Given the description of an element on the screen output the (x, y) to click on. 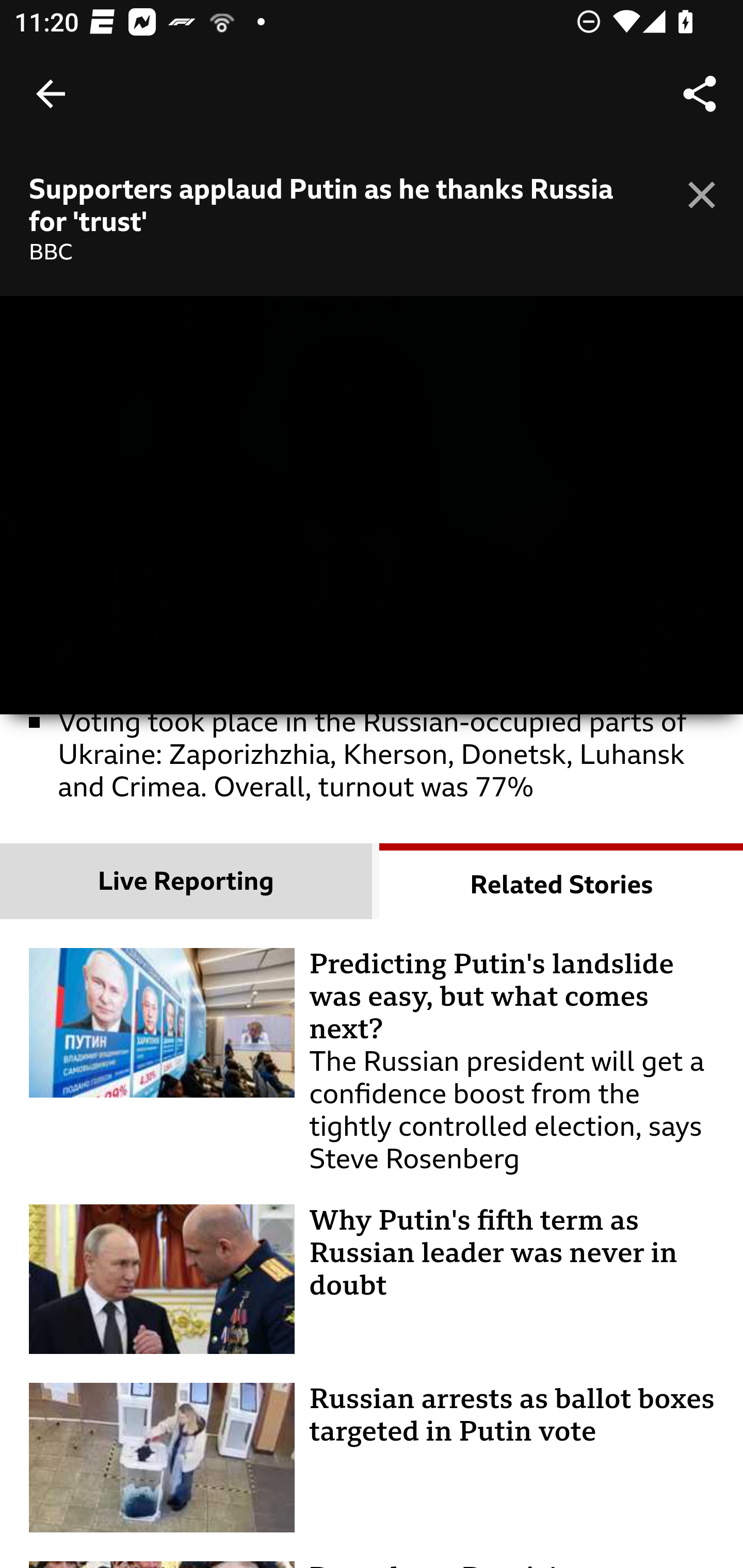
Back (50, 93)
Share (699, 93)
Live Reporting (186, 881)
Related Stories (560, 881)
